Given the description of an element on the screen output the (x, y) to click on. 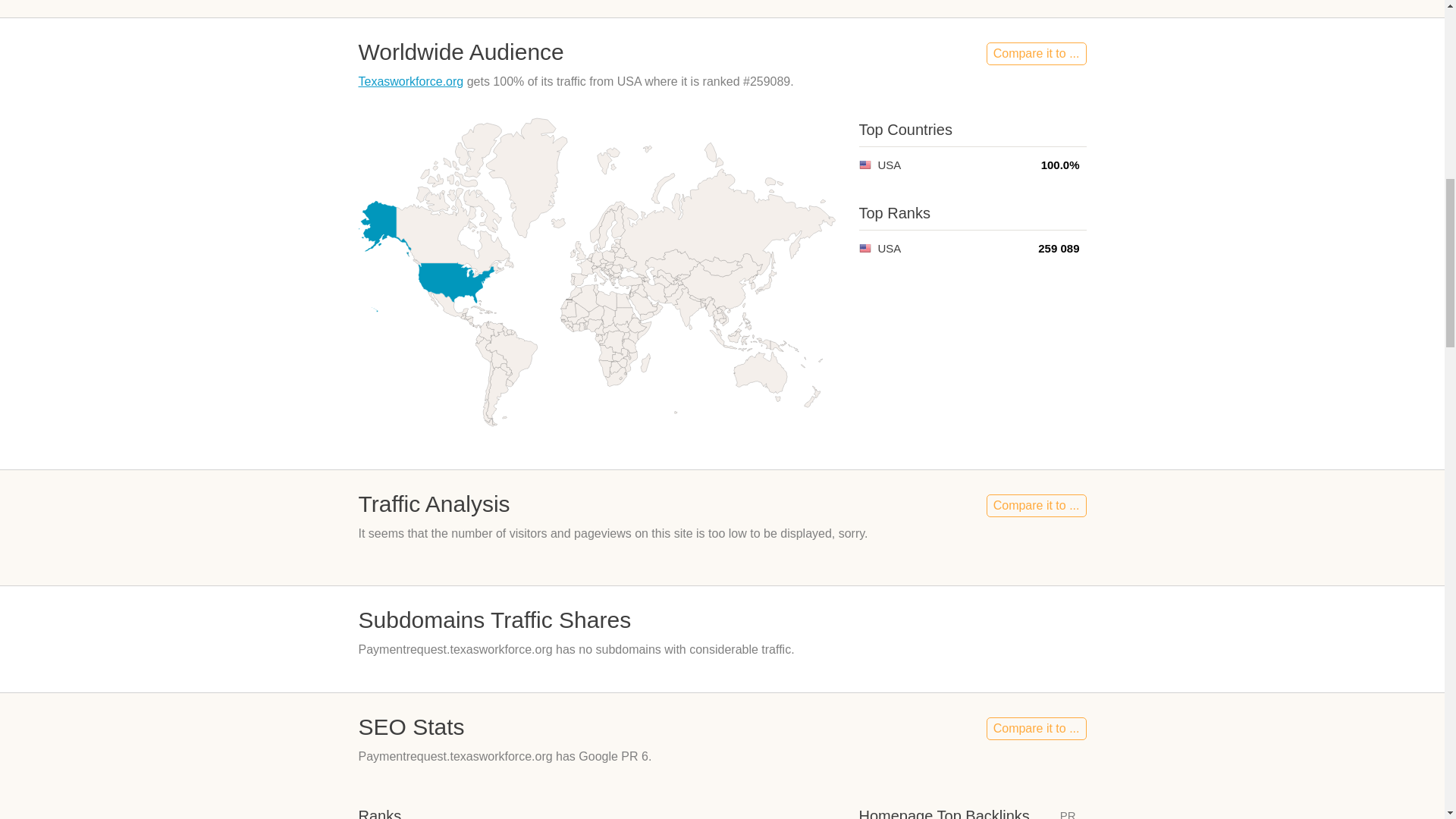
USA (864, 164)
Compare it to ... (1036, 728)
Compare it to ... (1036, 505)
Compare it to ... (1036, 53)
USA (864, 248)
Texasworkforce.org (410, 81)
